Given the description of an element on the screen output the (x, y) to click on. 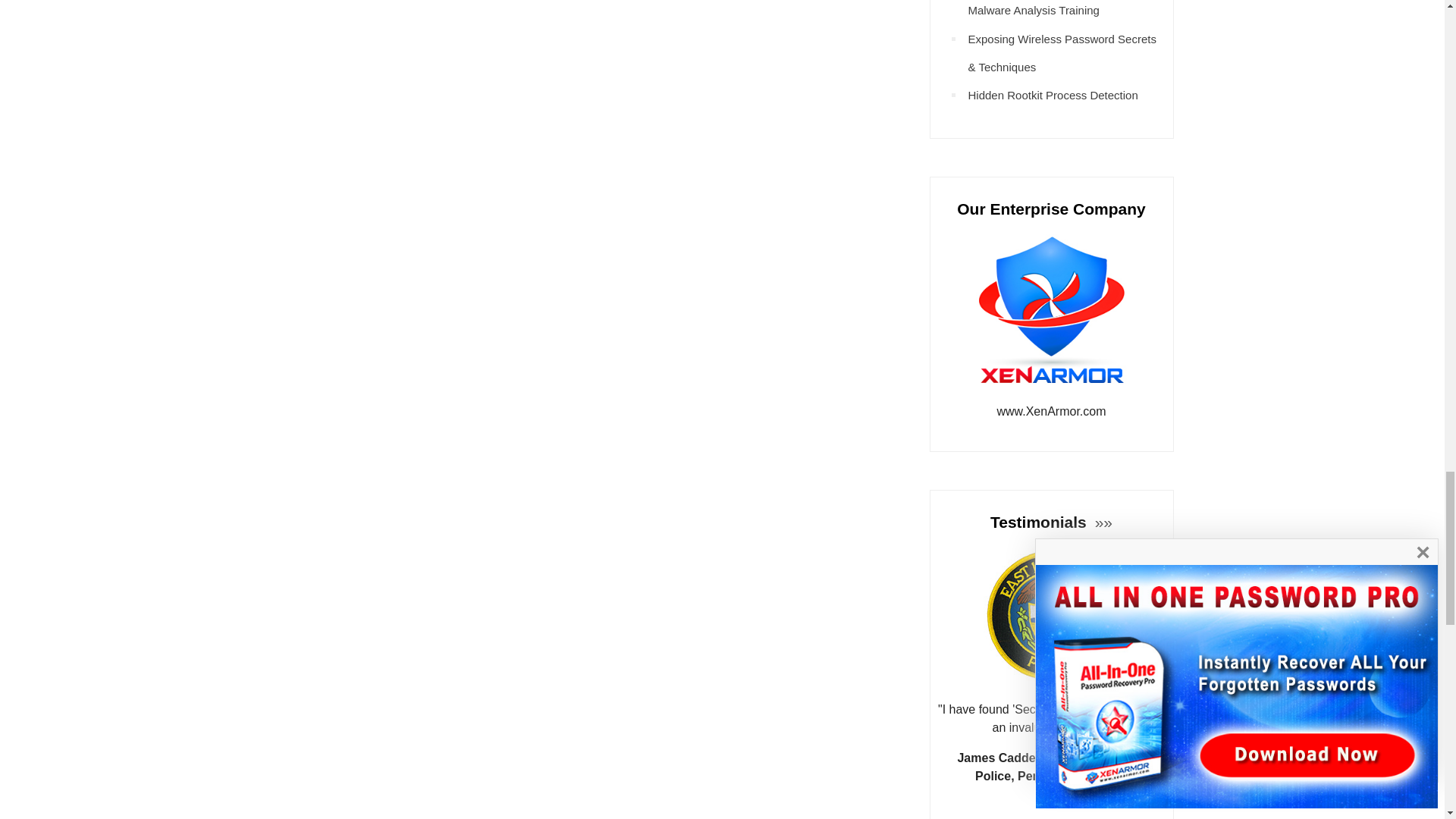
See More... (1101, 521)
